Given the description of an element on the screen output the (x, y) to click on. 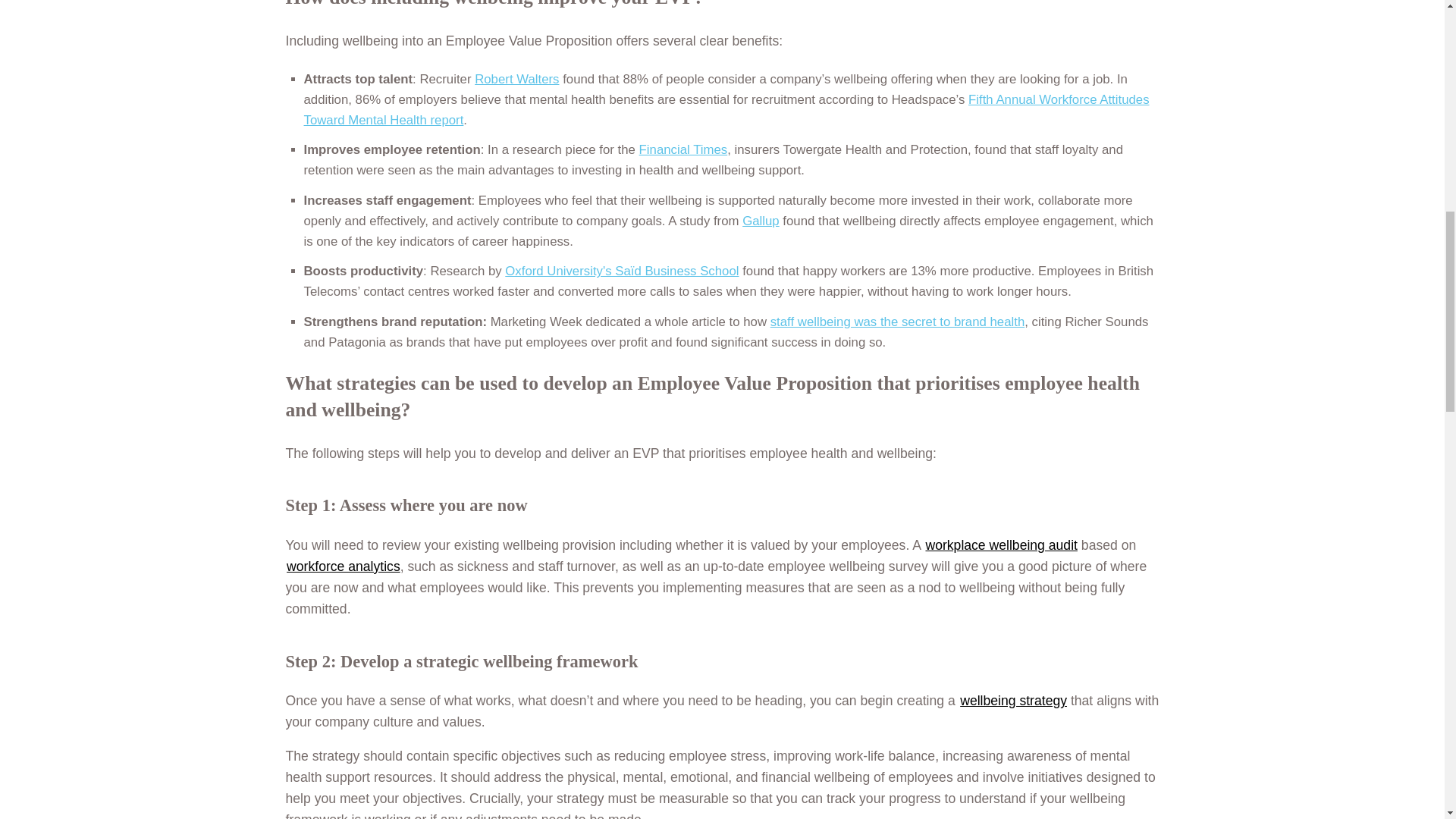
workplace wellbeing audit (1000, 544)
workforce analytics (343, 566)
Financial Times (683, 149)
Robert Walters (516, 79)
Fifth Annual Workforce Attitudes Toward Mental Health report (725, 109)
Gallup (760, 220)
wellbeing strategy (1013, 700)
staff wellbeing was the secret to brand health (897, 321)
